Given the description of an element on the screen output the (x, y) to click on. 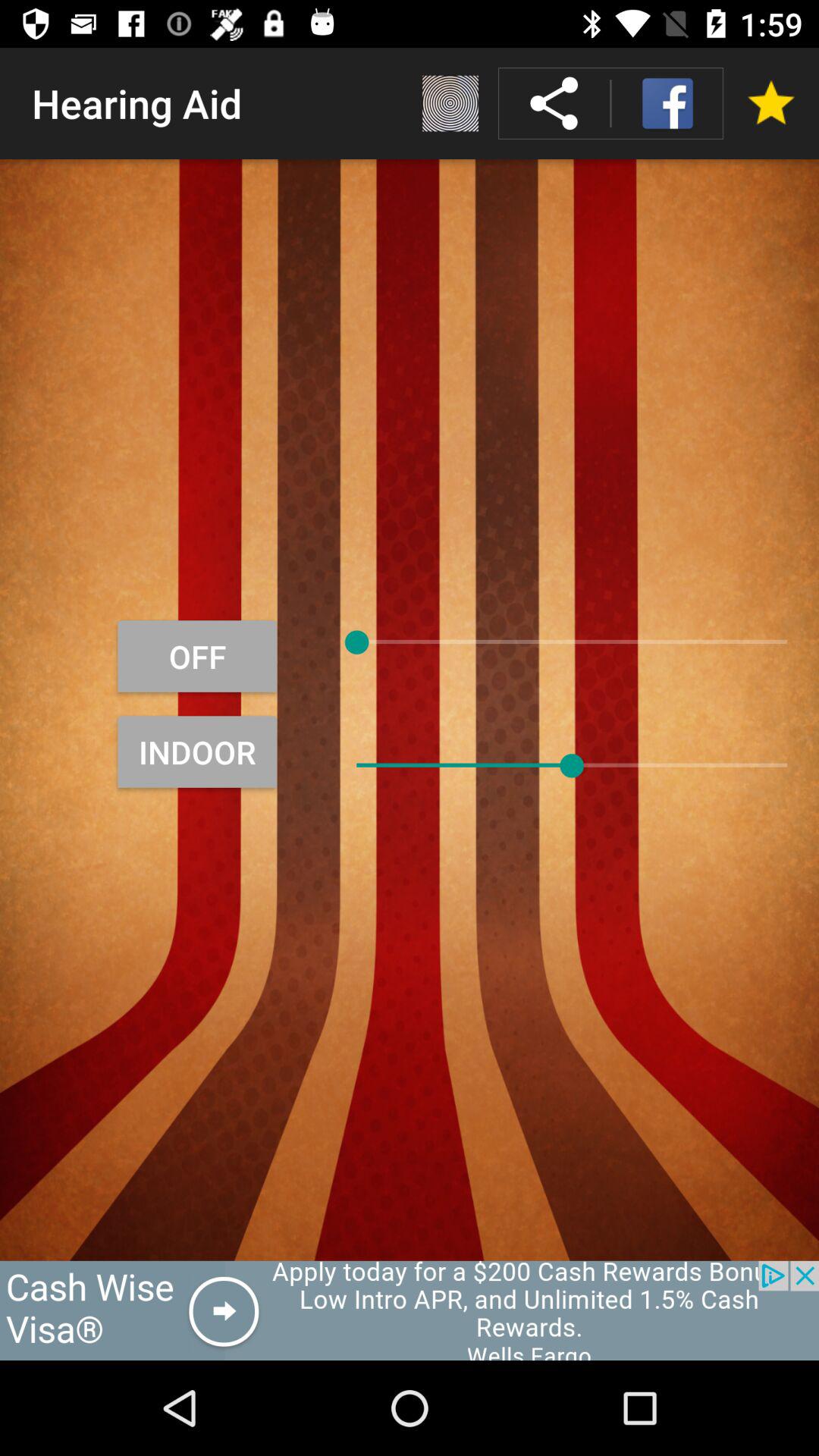
click on advertisement (409, 1310)
